Given the description of an element on the screen output the (x, y) to click on. 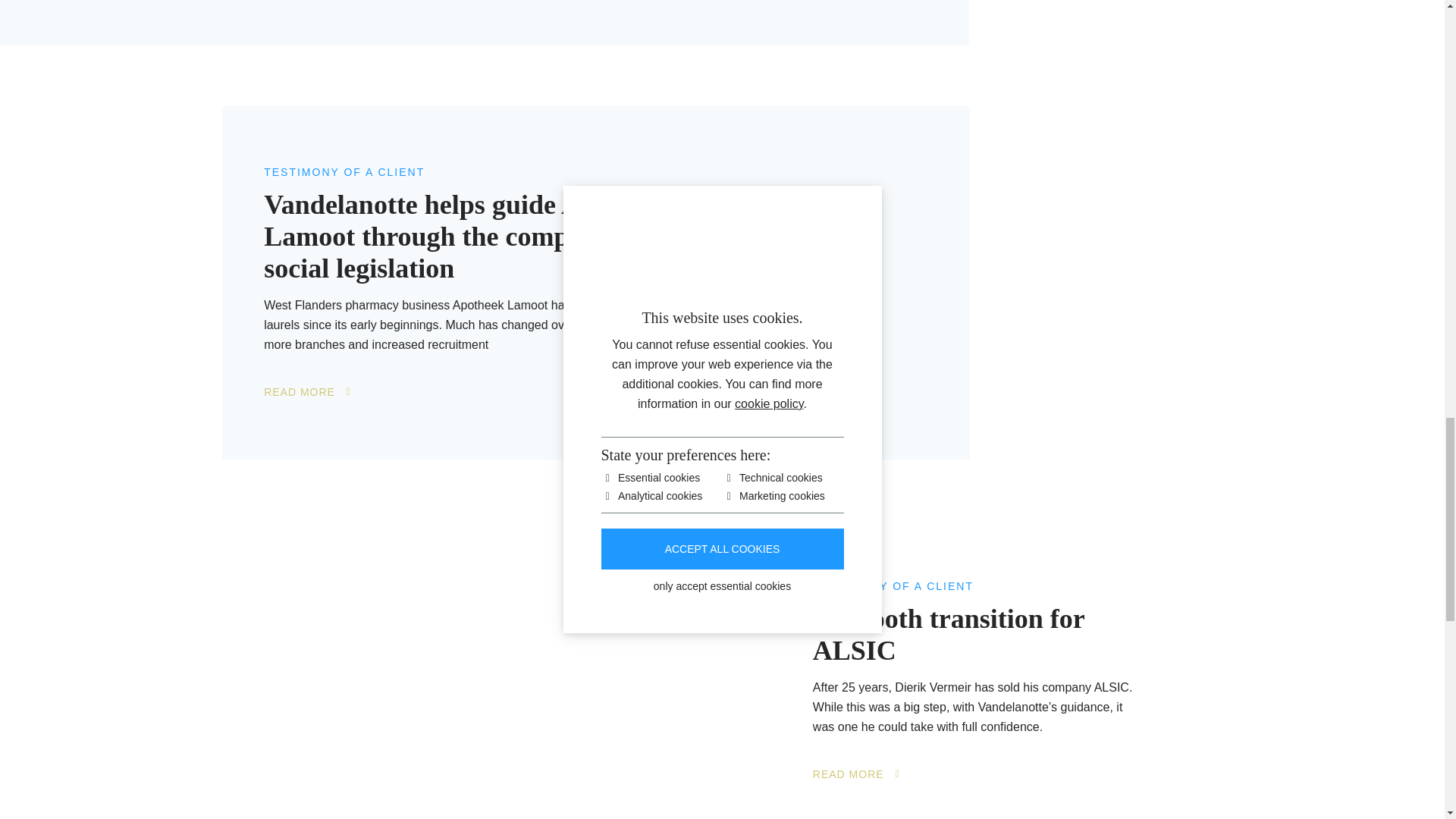
A smooth transition for ALSIC (975, 634)
Read more (306, 391)
Read more (855, 774)
READ MORE (855, 774)
READ MORE (306, 391)
